Given the description of an element on the screen output the (x, y) to click on. 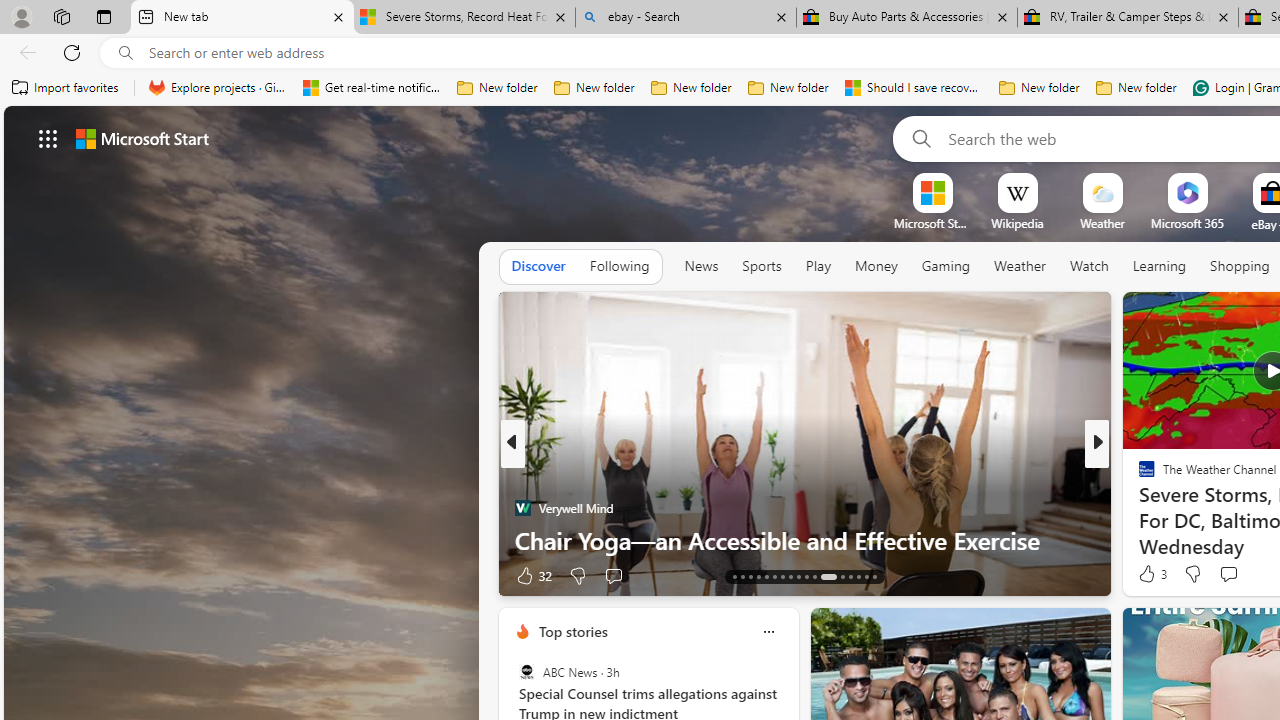
View comments 167 Comment (1247, 574)
AutomationID: tab-26 (850, 576)
Weather (1019, 267)
Gaming (945, 265)
AutomationID: tab-23 (814, 576)
AutomationID: tab-24 (827, 576)
